Given the description of an element on the screen output the (x, y) to click on. 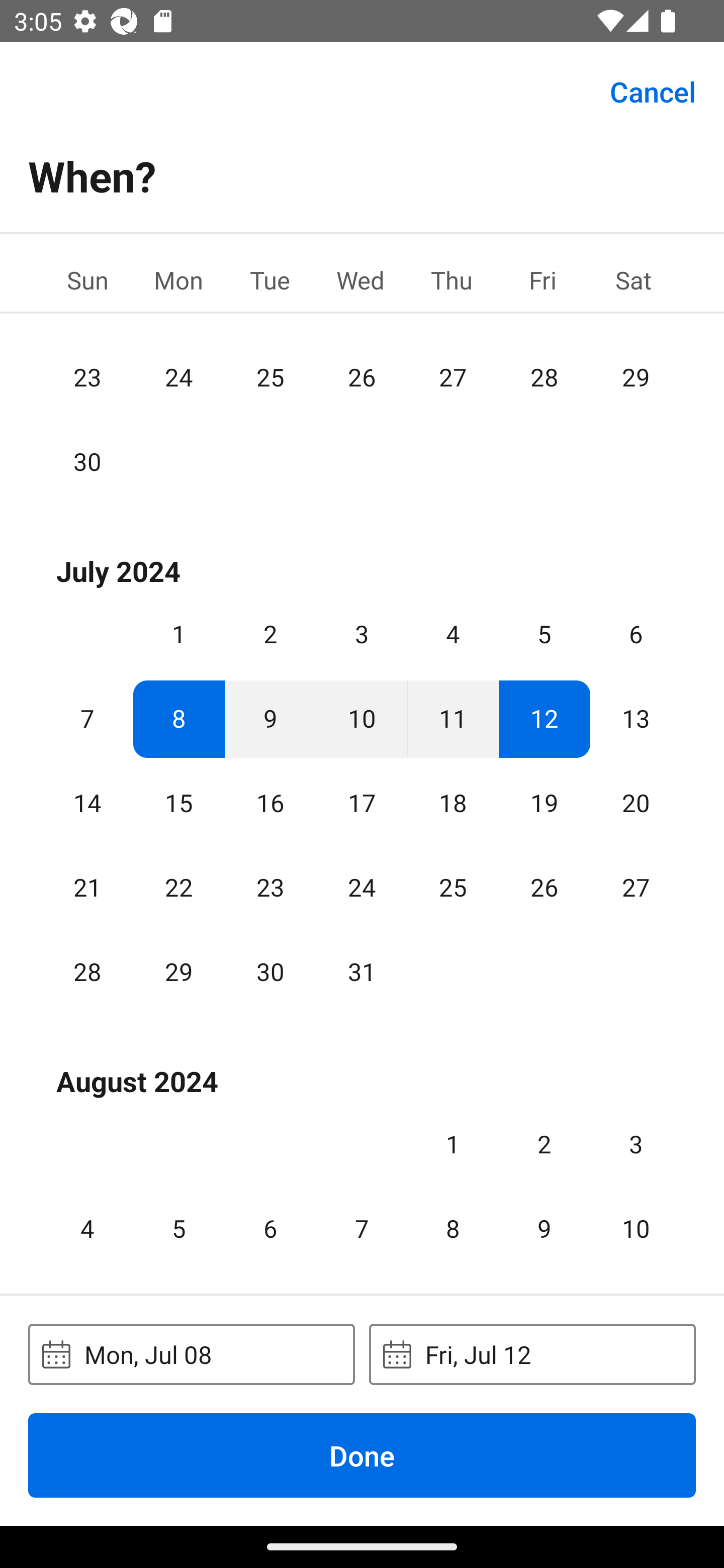
Cancel (652, 90)
Mon, Jul 08 (191, 1353)
Fri, Jul 12 (532, 1353)
Done (361, 1454)
